Given the description of an element on the screen output the (x, y) to click on. 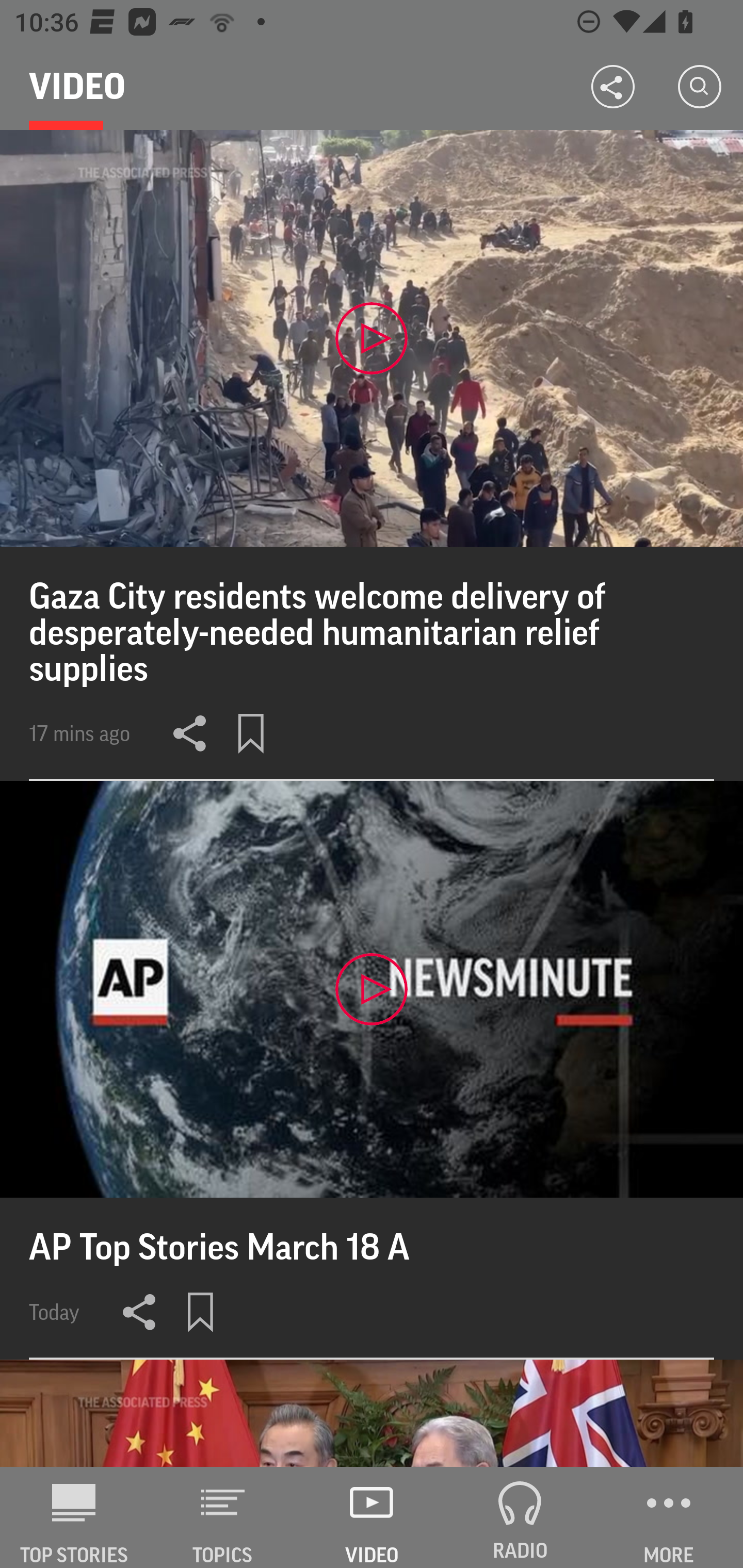
AP Top Stories March 18 A Today (371, 1069)
AP News TOP STORIES (74, 1517)
TOPICS (222, 1517)
VIDEO (371, 1517)
RADIO (519, 1517)
MORE (668, 1517)
